Given the description of an element on the screen output the (x, y) to click on. 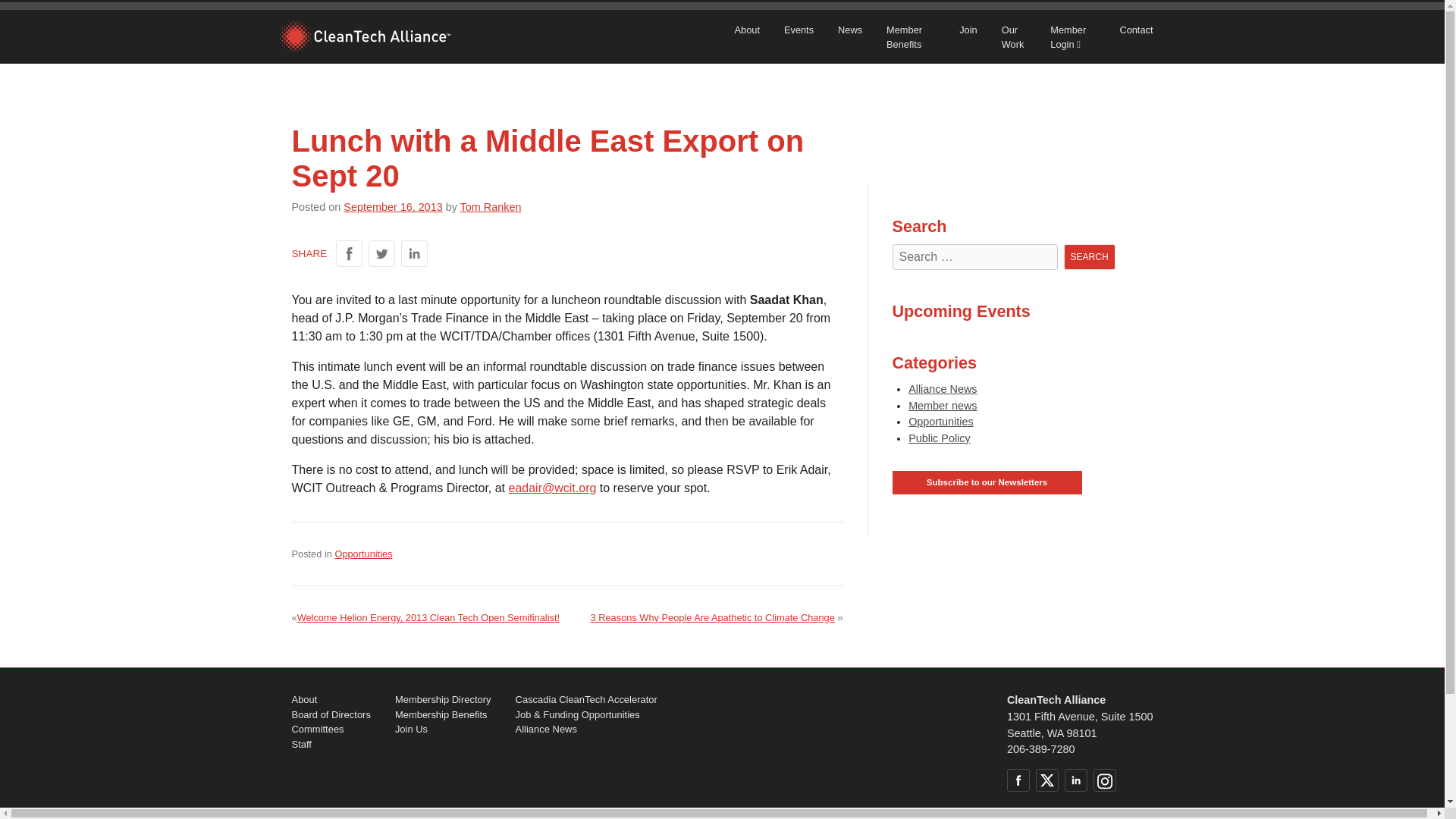
cta-logo (364, 36)
Vist CleanTech Alliance on LinkedIn (1075, 780)
Search (1089, 257)
Events (798, 29)
About (746, 29)
Share on Twitter (381, 253)
Share on Facebook (349, 253)
Share on LinkedIn (414, 253)
Vist CleanTech Alliance on Instagram (1104, 780)
cta-logo (364, 36)
Visit CleanTech Alliance on Facebook (1018, 780)
Visit CleanTech Alliance on Twitter (1046, 780)
Search (1089, 257)
